Given the description of an element on the screen output the (x, y) to click on. 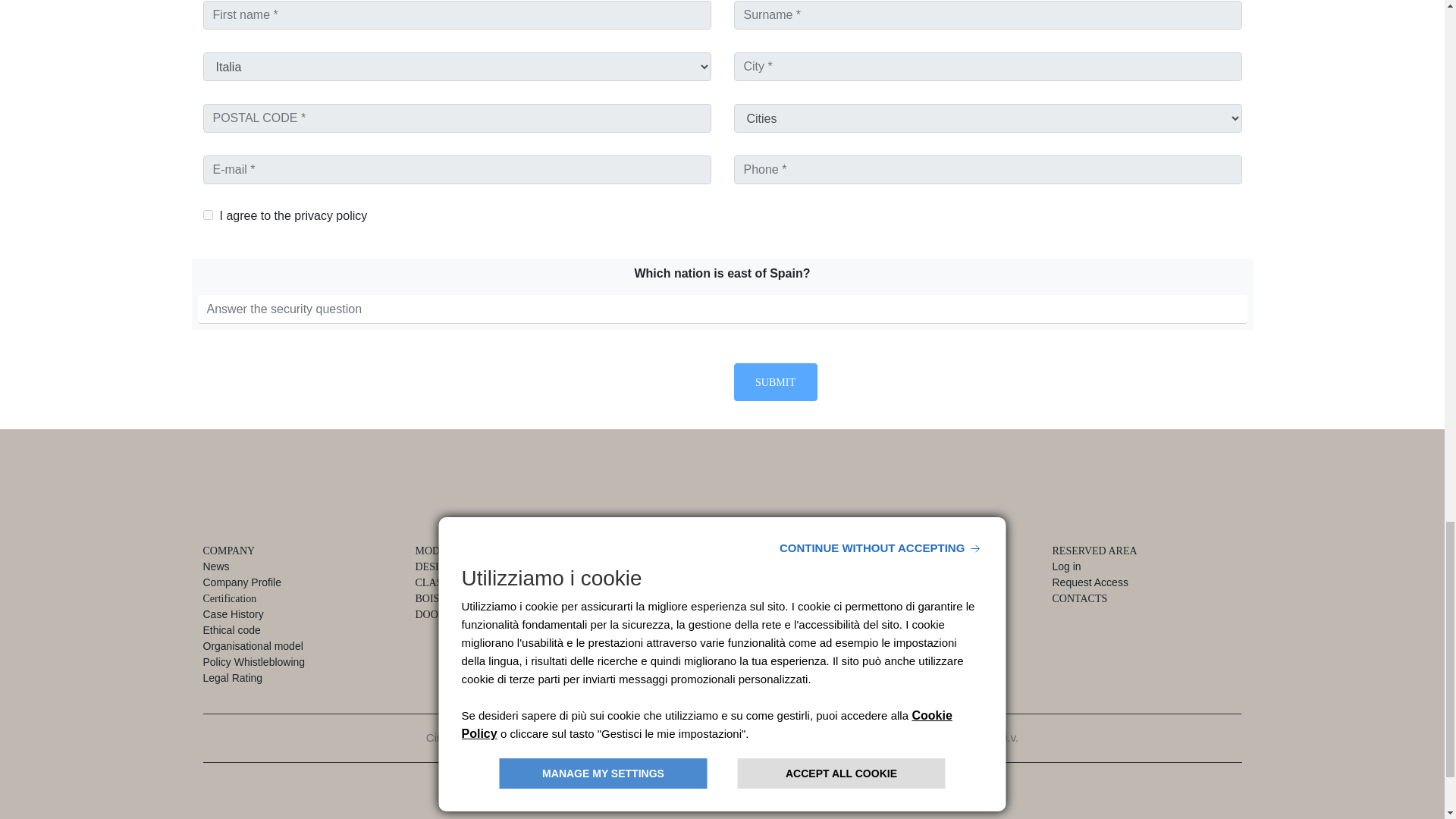
on (207, 214)
